Given the description of an element on the screen output the (x, y) to click on. 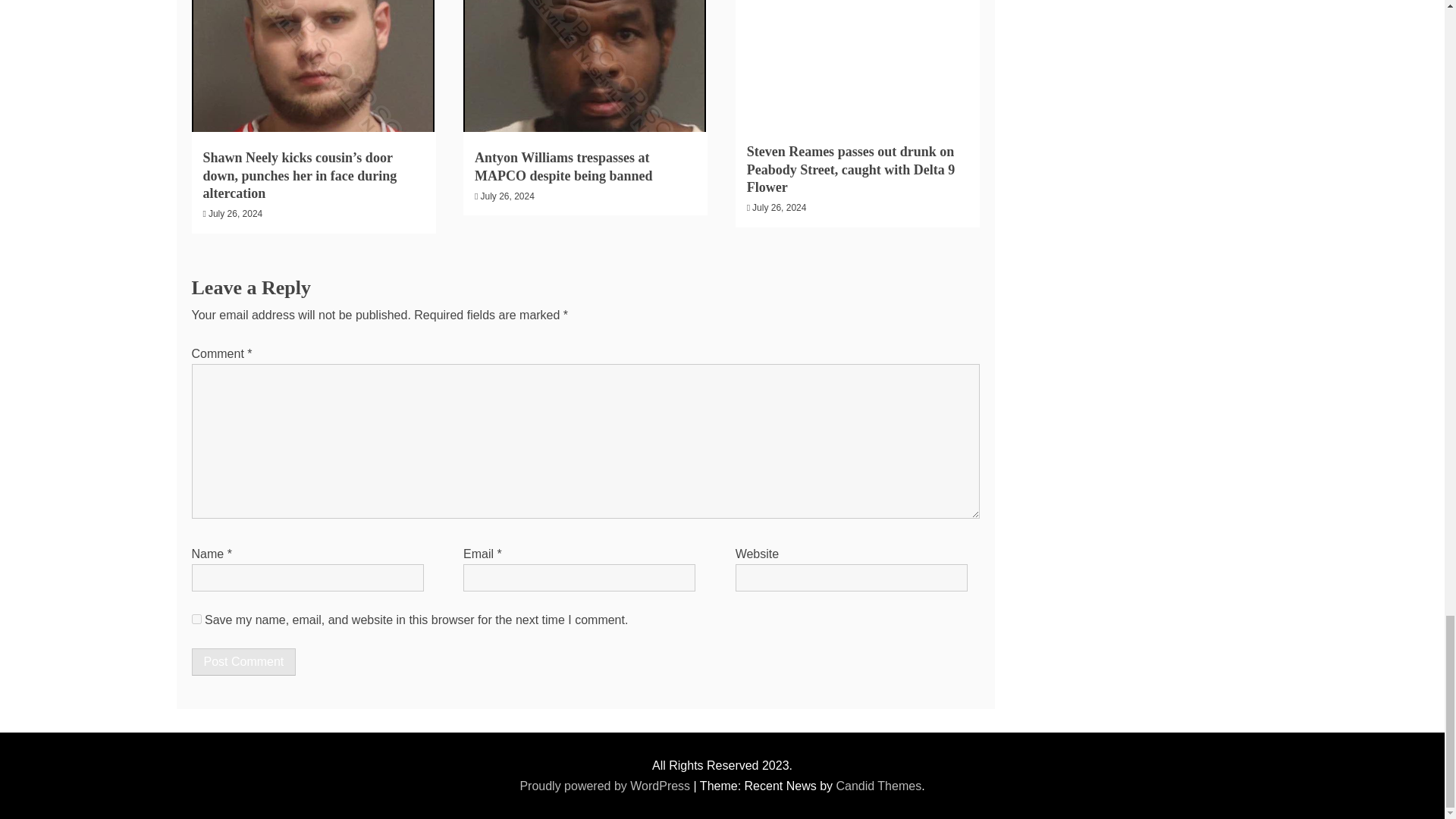
yes (195, 619)
Post Comment (242, 661)
